Given the description of an element on the screen output the (x, y) to click on. 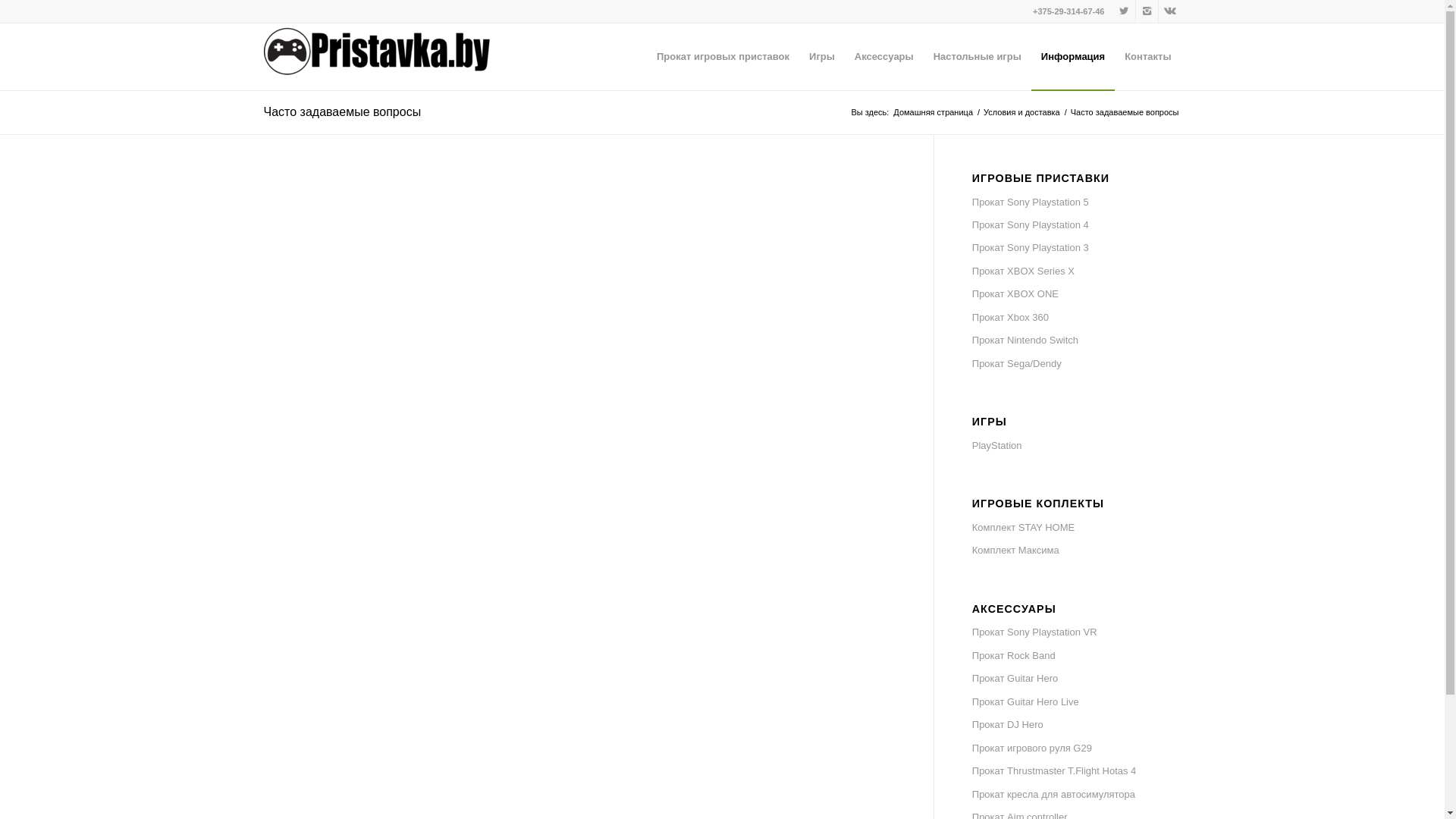
PlayStation Element type: text (1076, 445)
Twitter Element type: hover (1124, 11)
Instagram Element type: hover (1146, 11)
Vk Element type: hover (1169, 11)
